Given the description of an element on the screen output the (x, y) to click on. 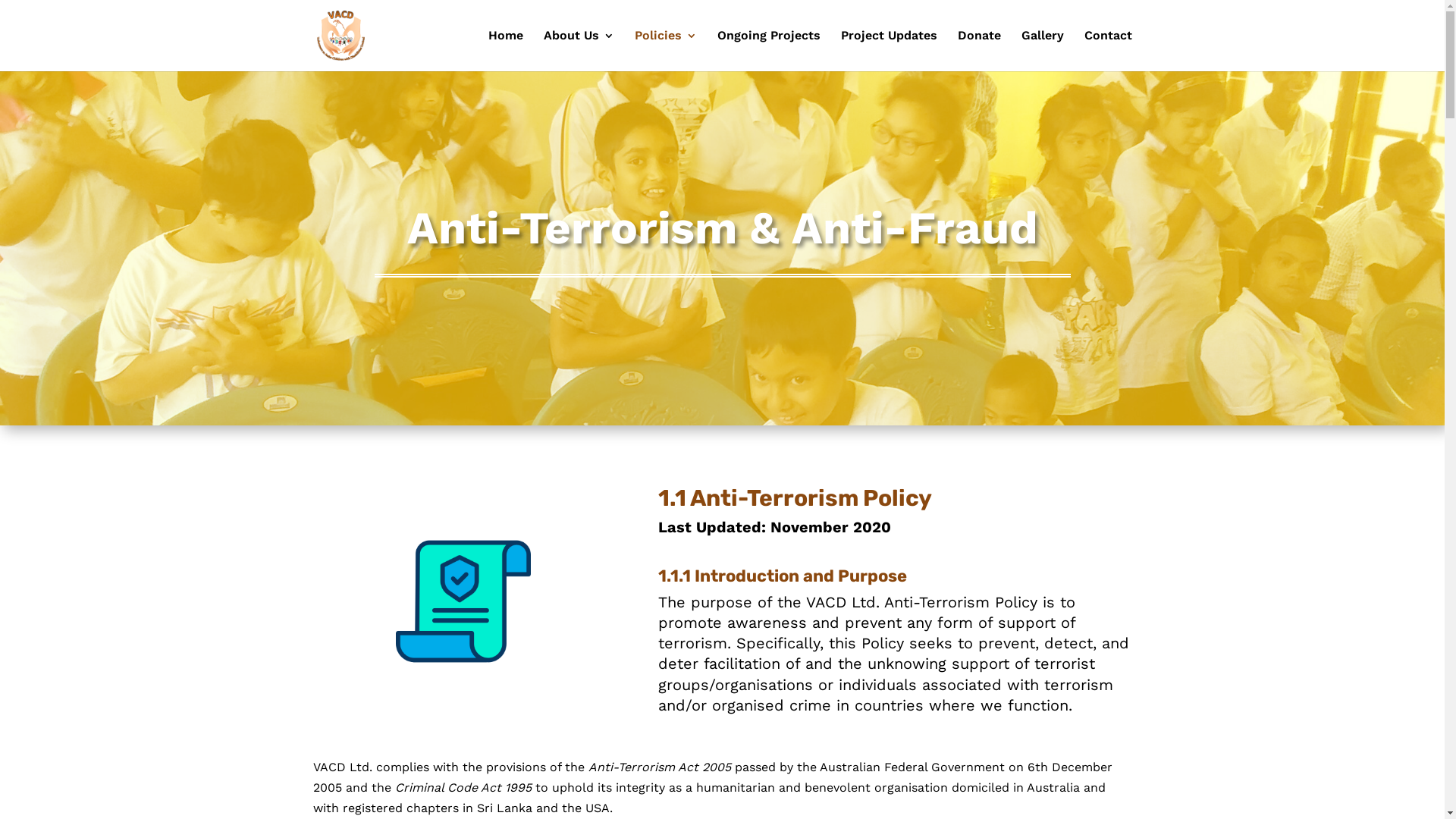
Policies Element type: text (664, 50)
Home Element type: text (505, 50)
Project Updates Element type: text (888, 50)
Contact Element type: text (1108, 50)
Donate Element type: text (978, 50)
About Us Element type: text (577, 50)
policy Element type: hover (462, 600)
Gallery Element type: text (1041, 50)
Ongoing Projects Element type: text (768, 50)
